Given the description of an element on the screen output the (x, y) to click on. 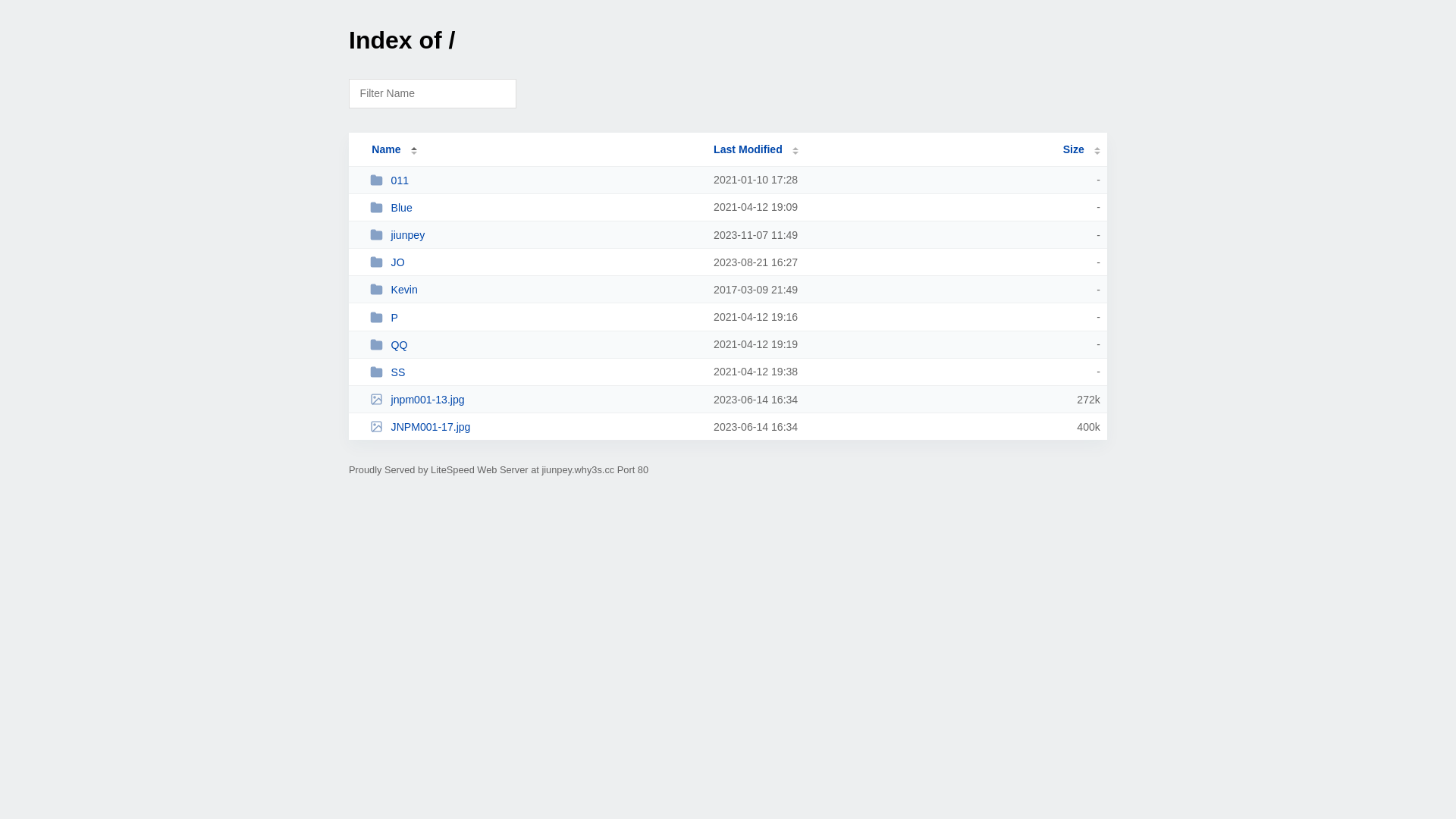
Last Modified Element type: text (755, 149)
QQ Element type: text (534, 344)
Blue Element type: text (534, 206)
Name Element type: text (385, 149)
Kevin Element type: text (534, 288)
P Element type: text (534, 316)
Size Element type: text (1081, 149)
JO Element type: text (534, 261)
jnpm001-13.jpg Element type: text (534, 398)
SS Element type: text (534, 371)
JNPM001-17.jpg Element type: text (534, 426)
011 Element type: text (534, 179)
jiunpey Element type: text (534, 234)
